Given the description of an element on the screen output the (x, y) to click on. 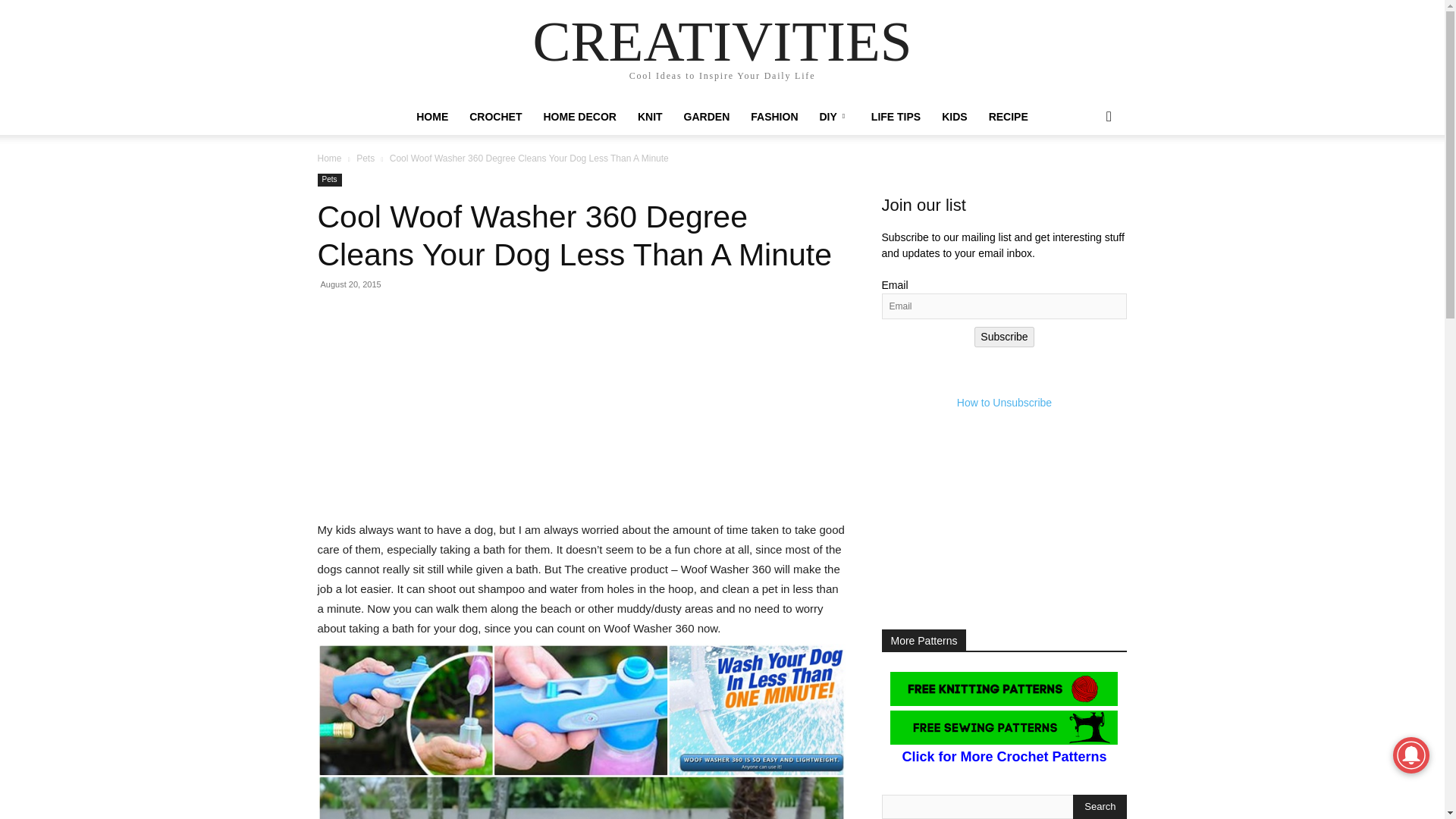
CREATIVITIES Cool Ideas to Inspire Your Daily Life (722, 50)
Search (1099, 806)
GARDEN (706, 116)
KNIT (649, 116)
CROCHET (495, 116)
View all posts in Pets (365, 158)
Advertisement (580, 413)
FASHION (773, 116)
HOME (432, 116)
DIY (834, 116)
